Given the description of an element on the screen output the (x, y) to click on. 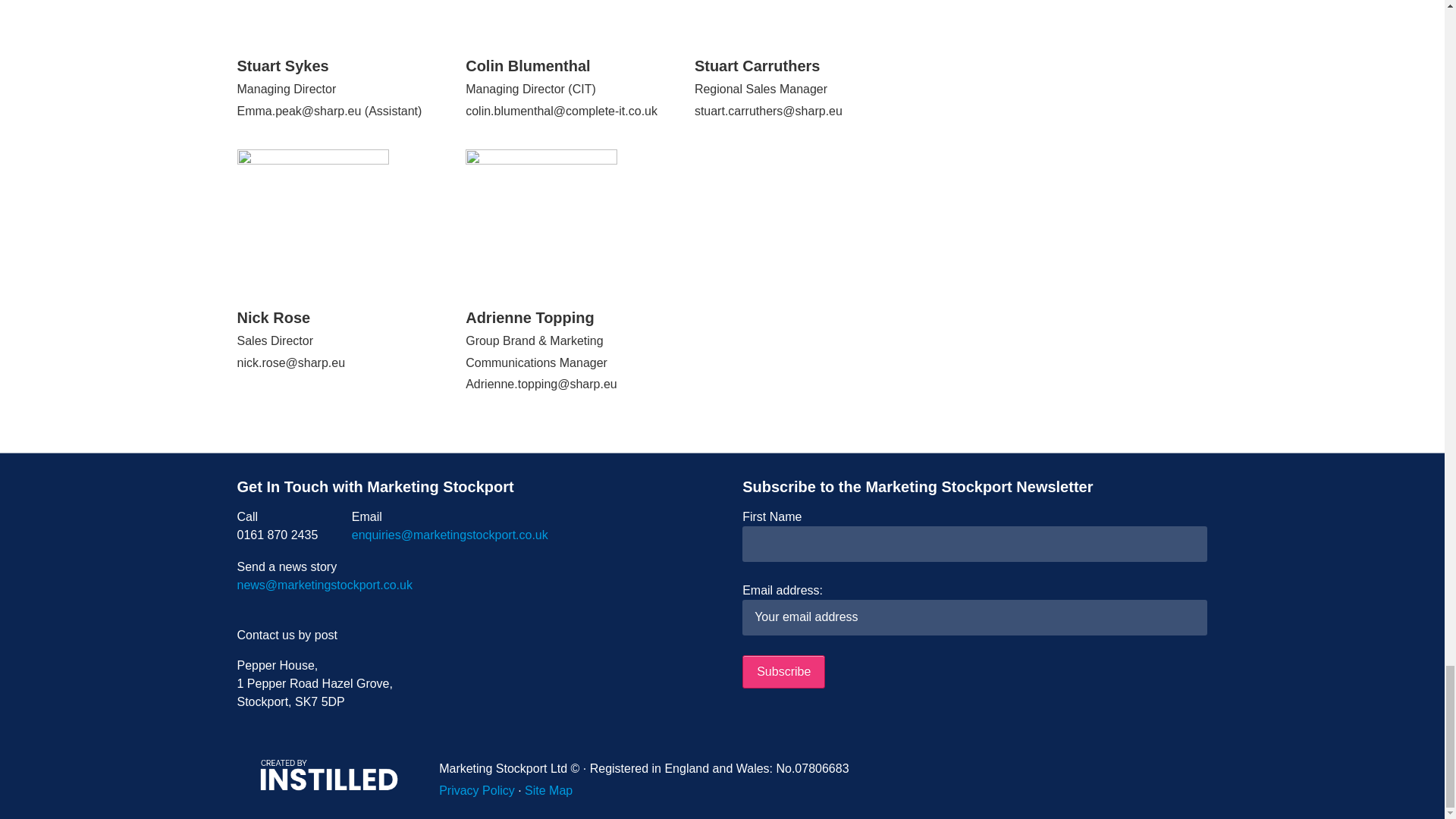
Subscribe (783, 671)
